Given the description of an element on the screen output the (x, y) to click on. 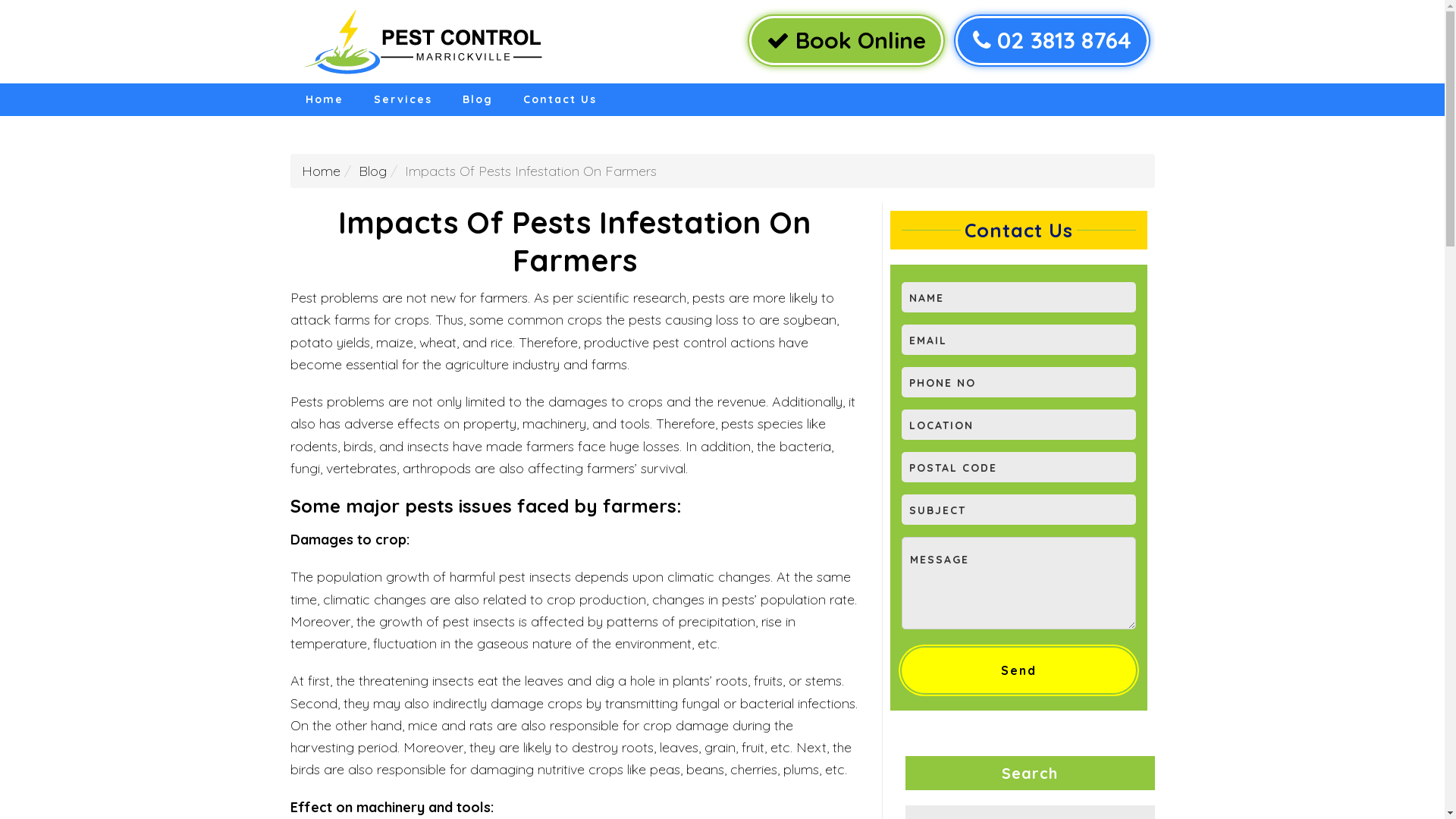
Home Element type: text (320, 170)
Send Element type: text (1017, 670)
02 3813 8764 Element type: text (1052, 40)
Home Element type: text (323, 99)
Blog Element type: text (371, 170)
Contact Us Element type: text (559, 99)
Blog Element type: text (477, 99)
Services Element type: text (401, 99)
Book Online Element type: text (845, 40)
